Given the description of an element on the screen output the (x, y) to click on. 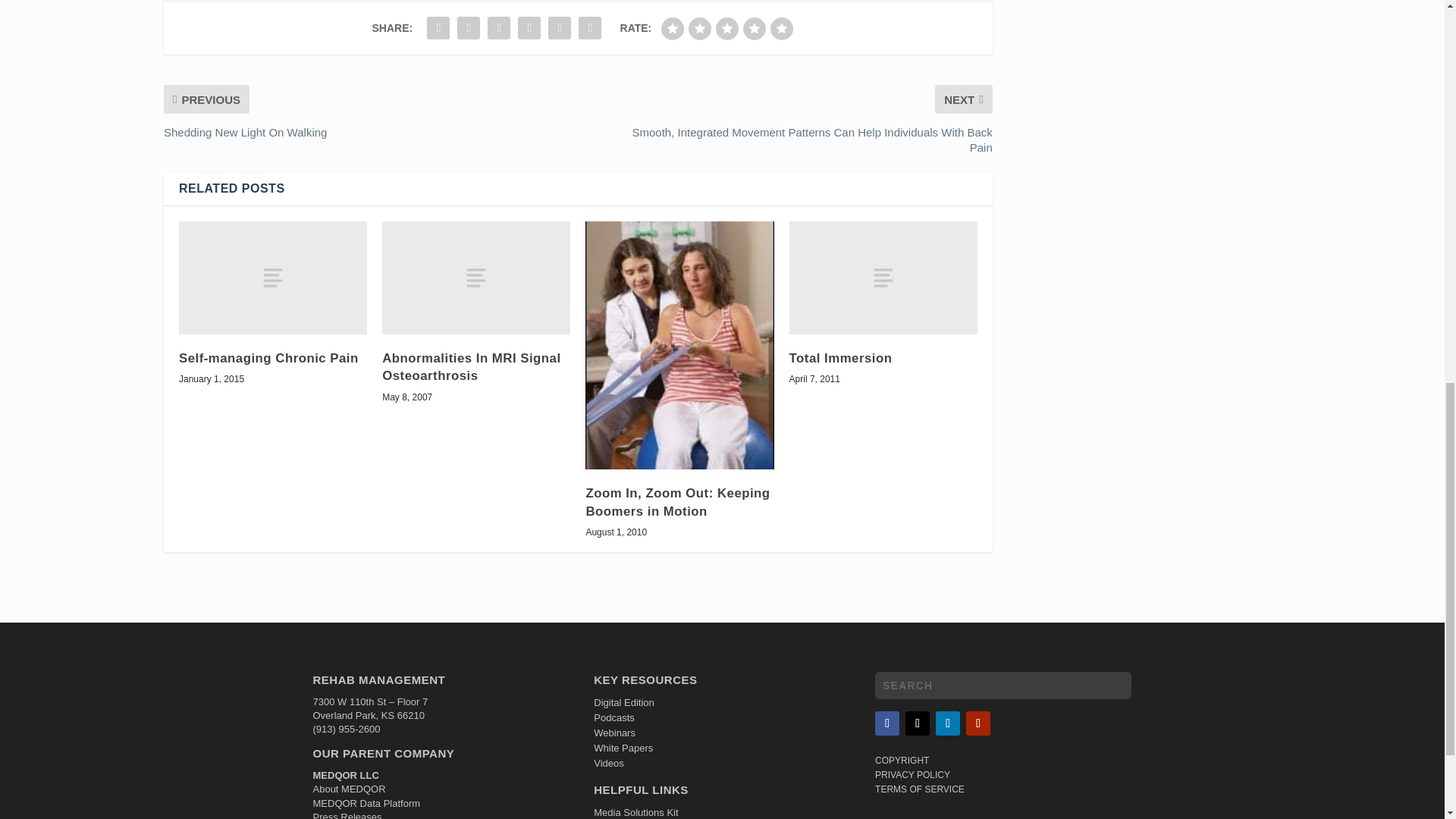
bad (672, 28)
gorgeous (781, 28)
regular (727, 28)
poor (699, 28)
good (753, 28)
Self-managing Chronic Pain (272, 277)
